Given the description of an element on the screen output the (x, y) to click on. 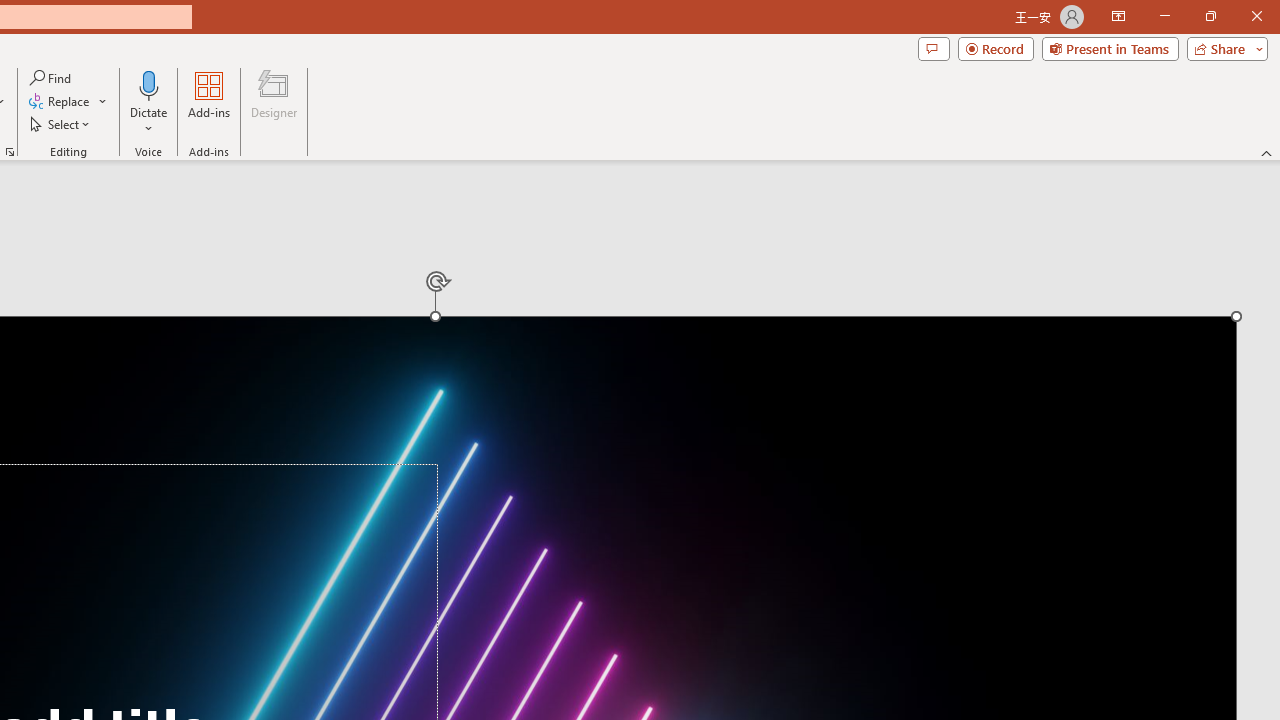
Designer (274, 102)
Format Object... (9, 151)
Dictate (149, 102)
Replace... (60, 101)
Find... (51, 78)
Dictate (149, 84)
Select (61, 124)
